Given the description of an element on the screen output the (x, y) to click on. 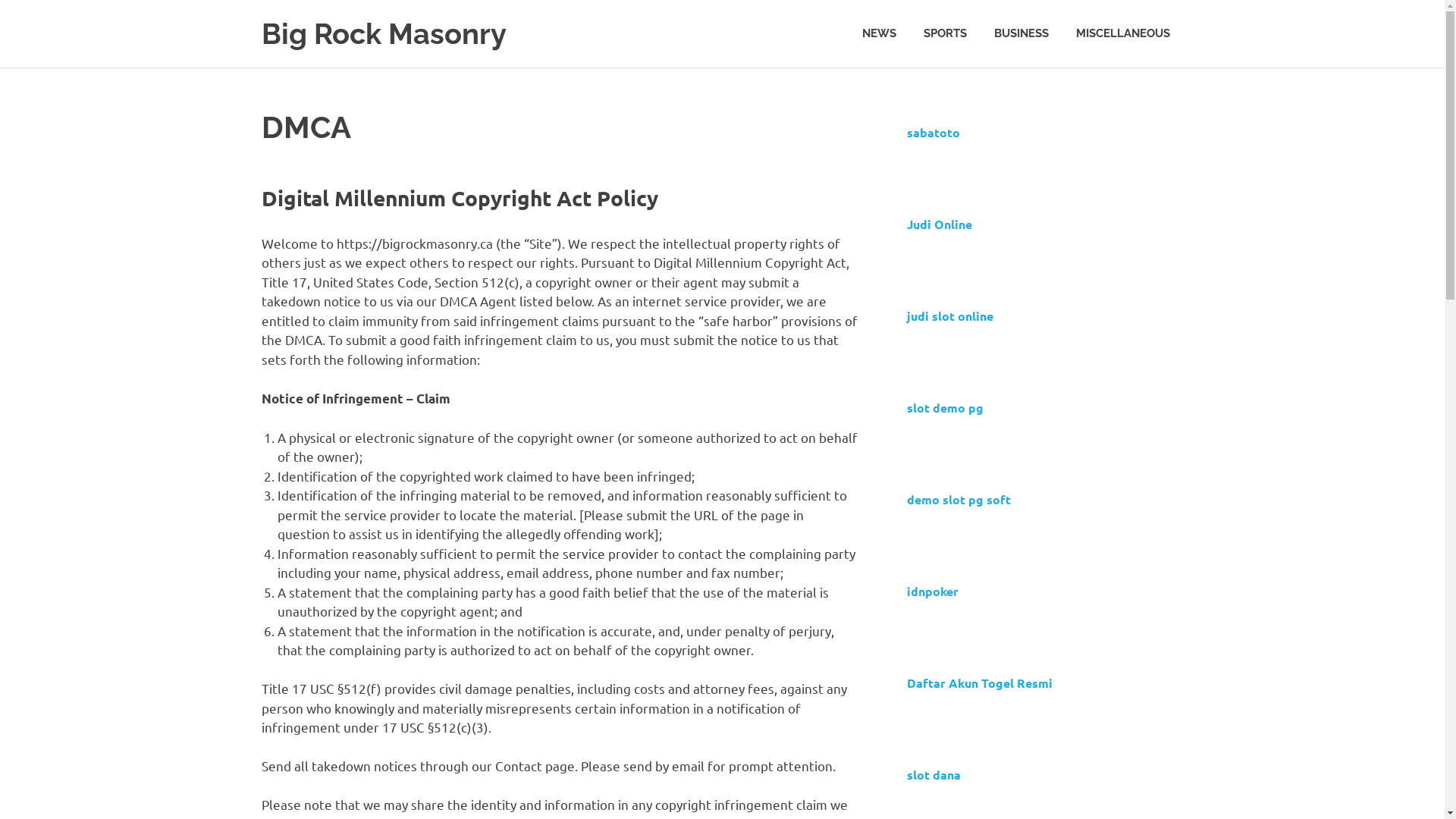
Daftar Akun Togel Resmi Element type: text (979, 682)
sabatoto Element type: text (933, 131)
NEWS Element type: text (878, 33)
BUSINESS Element type: text (1020, 33)
judi slot online Element type: text (949, 315)
Big Rock Masonry Element type: text (382, 33)
slot demo pg Element type: text (944, 406)
demo slot pg soft Element type: text (958, 498)
idnpoker Element type: text (932, 590)
SPORTS Element type: text (945, 33)
Judi Online Element type: text (939, 223)
slot dana Element type: text (933, 773)
MISCELLANEOUS Element type: text (1122, 33)
